Given the description of an element on the screen output the (x, y) to click on. 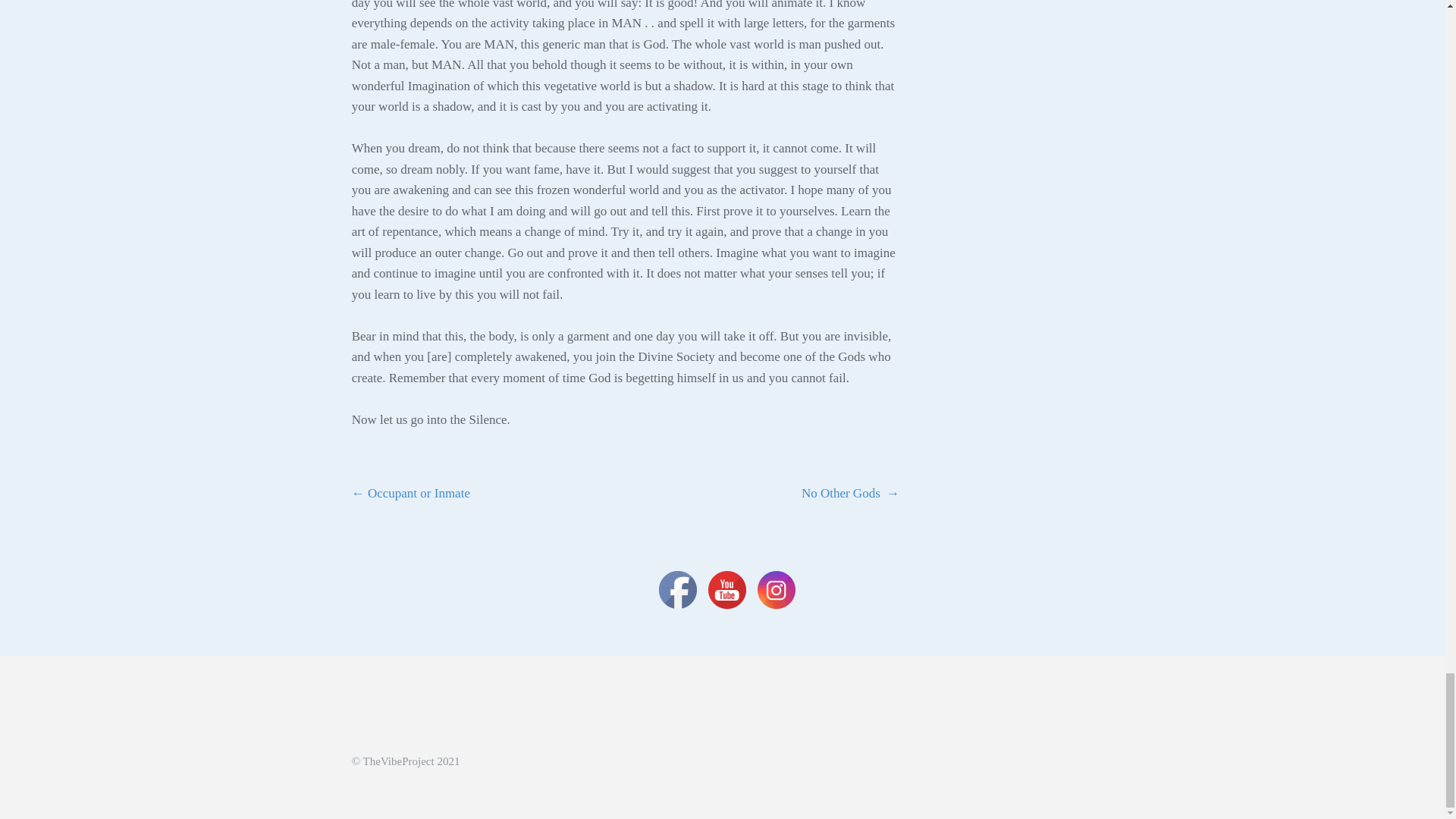
Facebook (678, 589)
Instagram (775, 589)
